Given the description of an element on the screen output the (x, y) to click on. 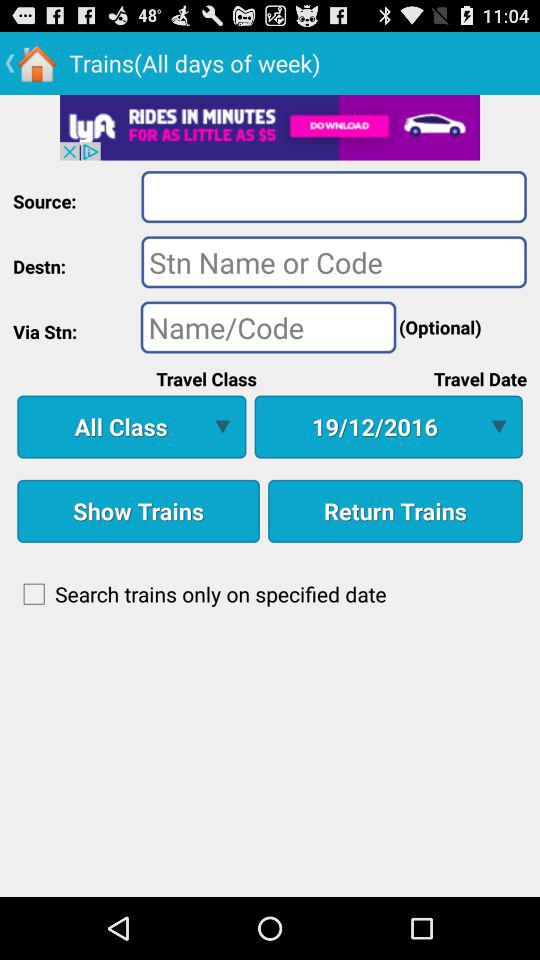
text to enter text (333, 261)
